Given the description of an element on the screen output the (x, y) to click on. 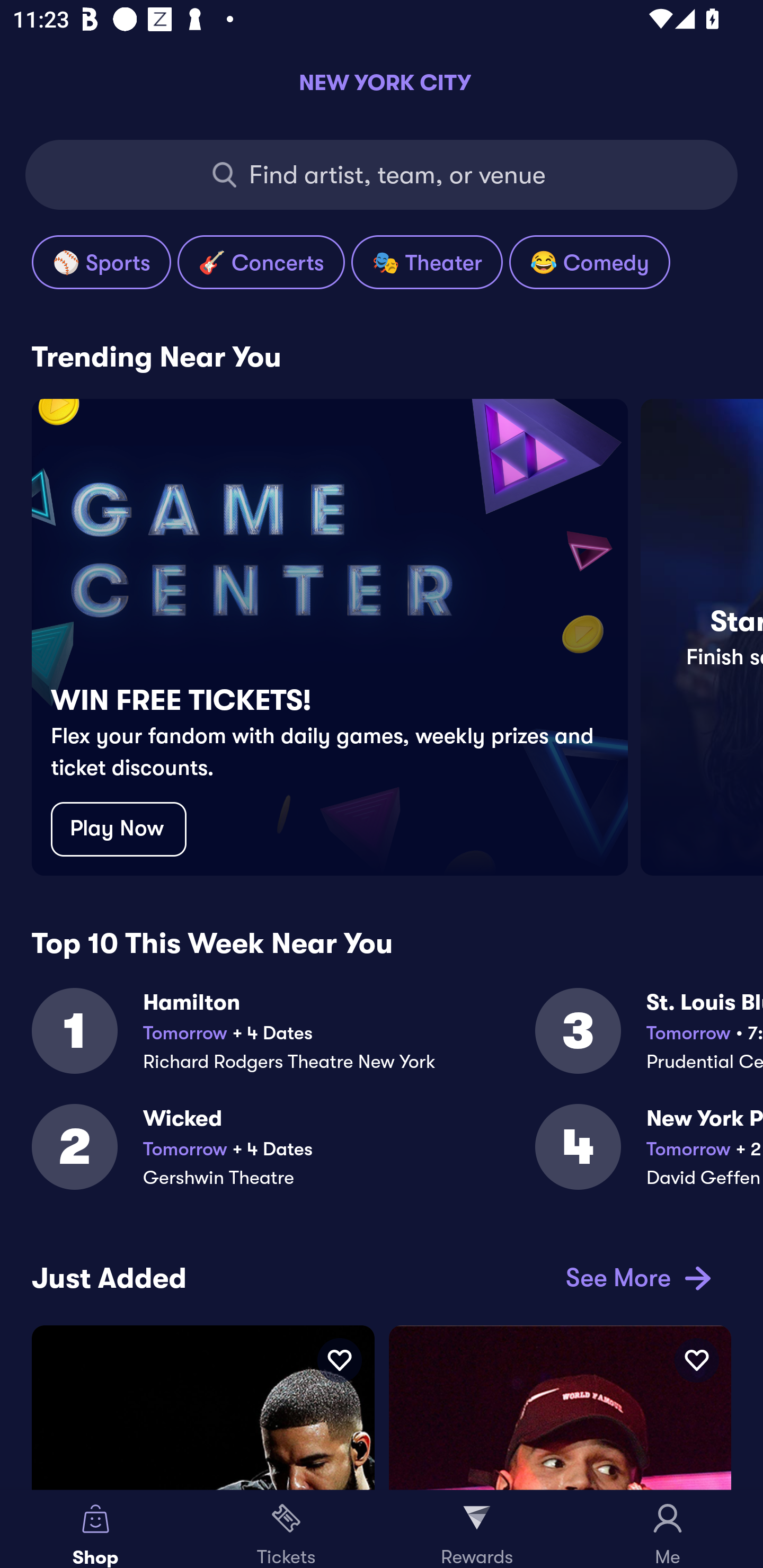
NEW YORK CITY (381, 81)
Find artist, team, or venue (381, 174)
⚾ Sports (101, 261)
🎸 Concerts (261, 261)
🎭 Theater (426, 261)
😂 Comedy (589, 261)
2 Wicked Tomorrow  + 4 Dates Gershwin Theatre (283, 1158)
See More (635, 1277)
icon button (339, 1359)
icon button (696, 1359)
Shop (95, 1529)
Tickets (285, 1529)
Rewards (476, 1529)
Me (667, 1529)
